Given the description of an element on the screen output the (x, y) to click on. 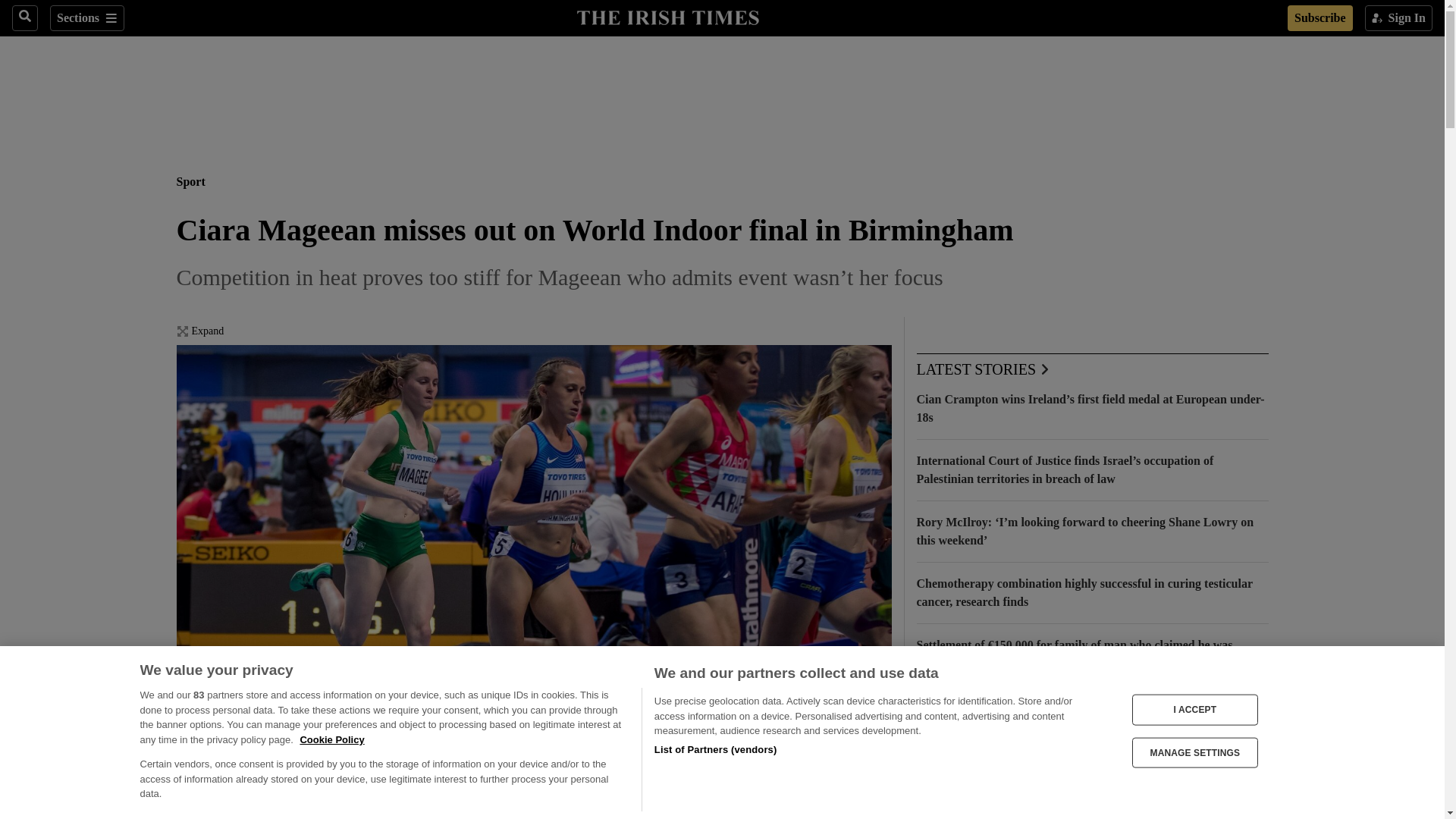
Sections (86, 17)
Sign In (1398, 17)
Subscribe (1319, 17)
The Irish Times (667, 16)
